Given the description of an element on the screen output the (x, y) to click on. 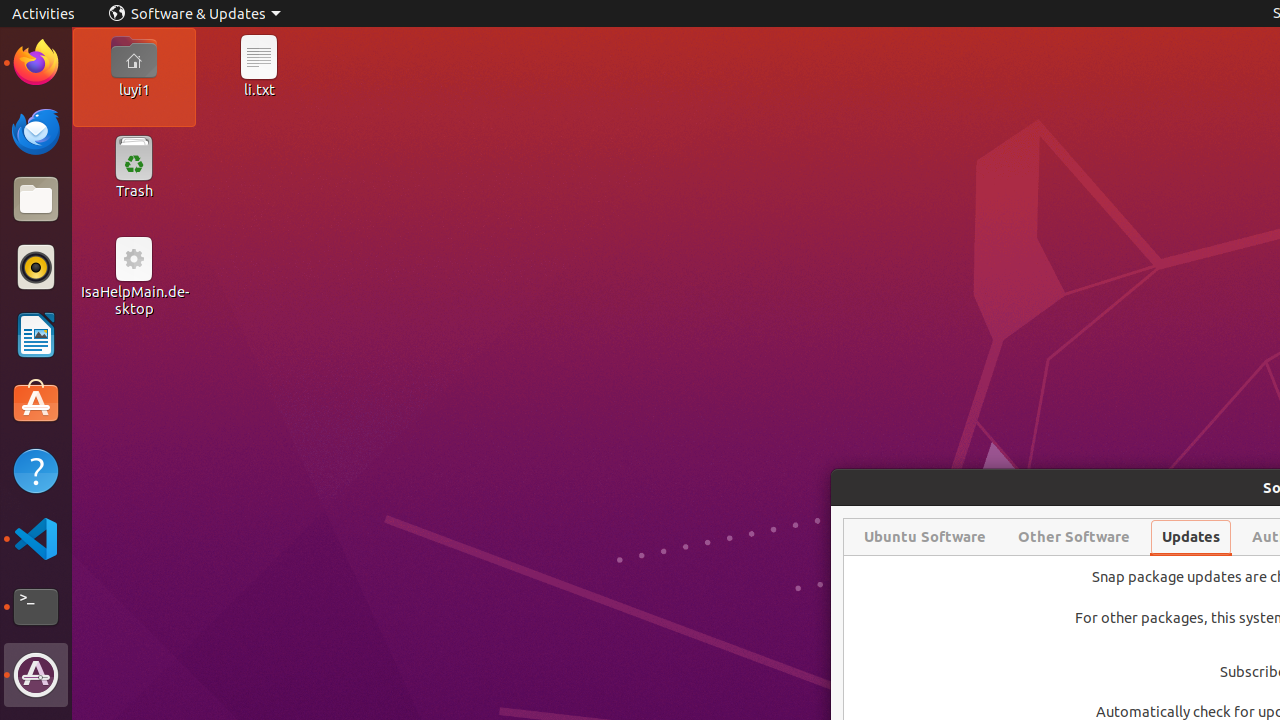
Other Software Element type: page-tab (1074, 537)
Trash Element type: label (133, 191)
IsaHelpMain.desktop Element type: label (133, 300)
